Given the description of an element on the screen output the (x, y) to click on. 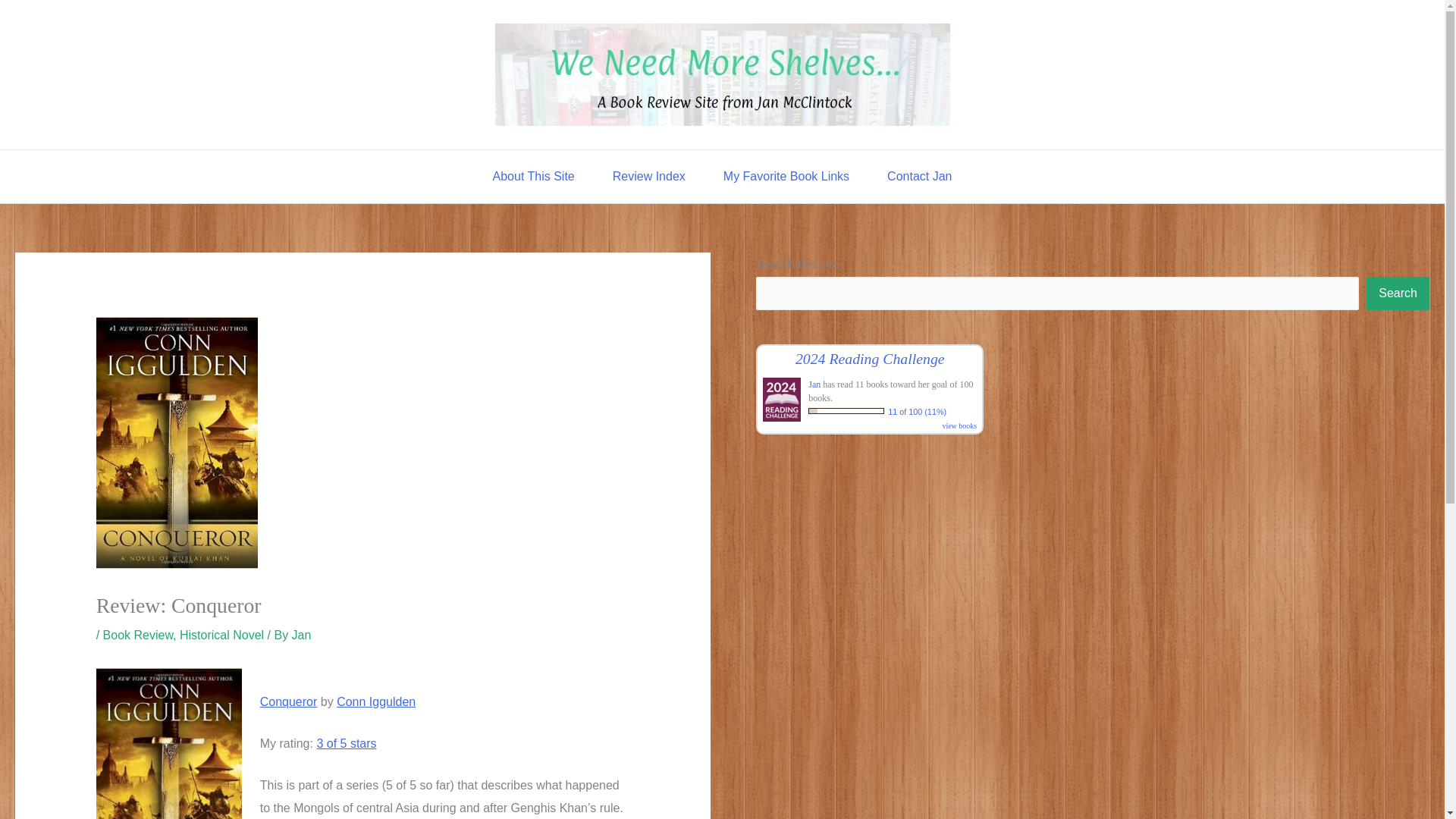
Review Index (649, 176)
Book Review (138, 634)
Conn Iggulden (375, 701)
Conqueror (288, 701)
My Favorite Book Links (785, 176)
Jan (814, 384)
Historical Novel (221, 634)
Contact Jan (919, 176)
About This Site (534, 176)
Jan (301, 634)
